Given the description of an element on the screen output the (x, y) to click on. 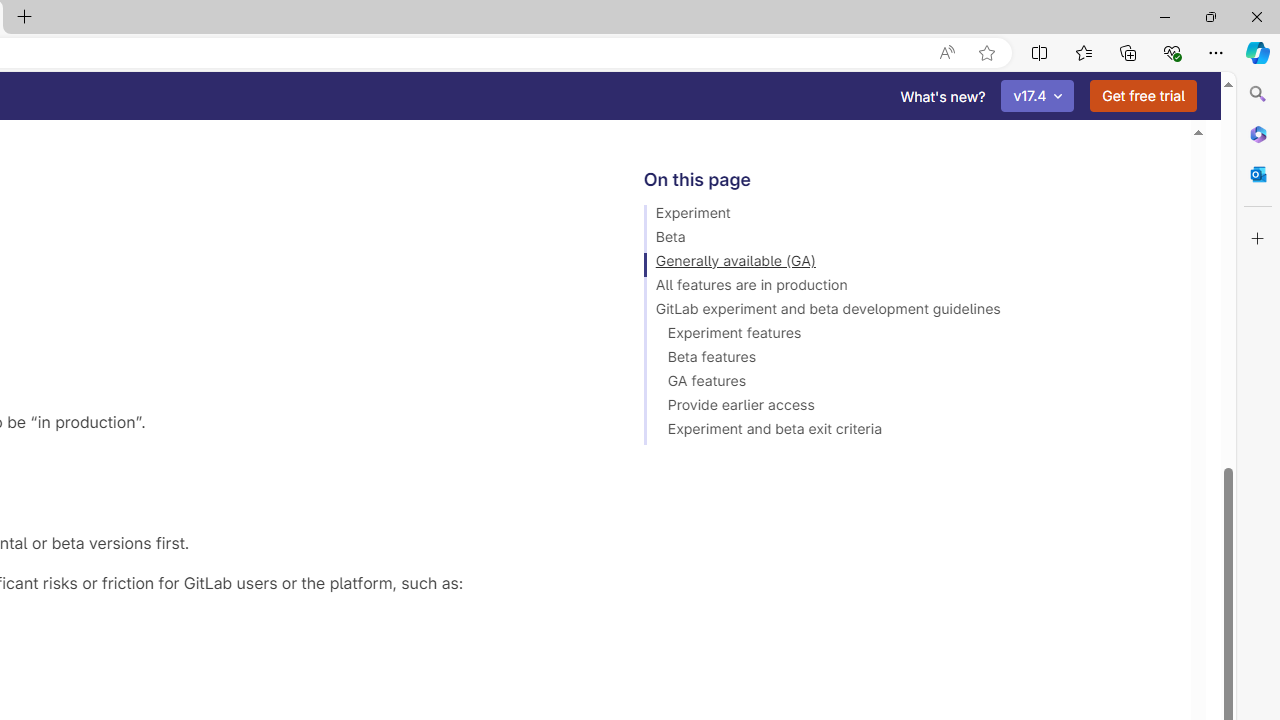
Provide earlier access (908, 408)
Experiment and beta exit criteria (908, 431)
GitLab experiment and beta development guidelines (908, 312)
What's new? (943, 96)
GitLab experiment and beta development guidelines (908, 312)
v17.4 (1037, 95)
Beta features (908, 359)
Experiment features (908, 336)
Experiment features (908, 336)
GA features (908, 384)
What's new? (943, 96)
Beta (908, 240)
